Given the description of an element on the screen output the (x, y) to click on. 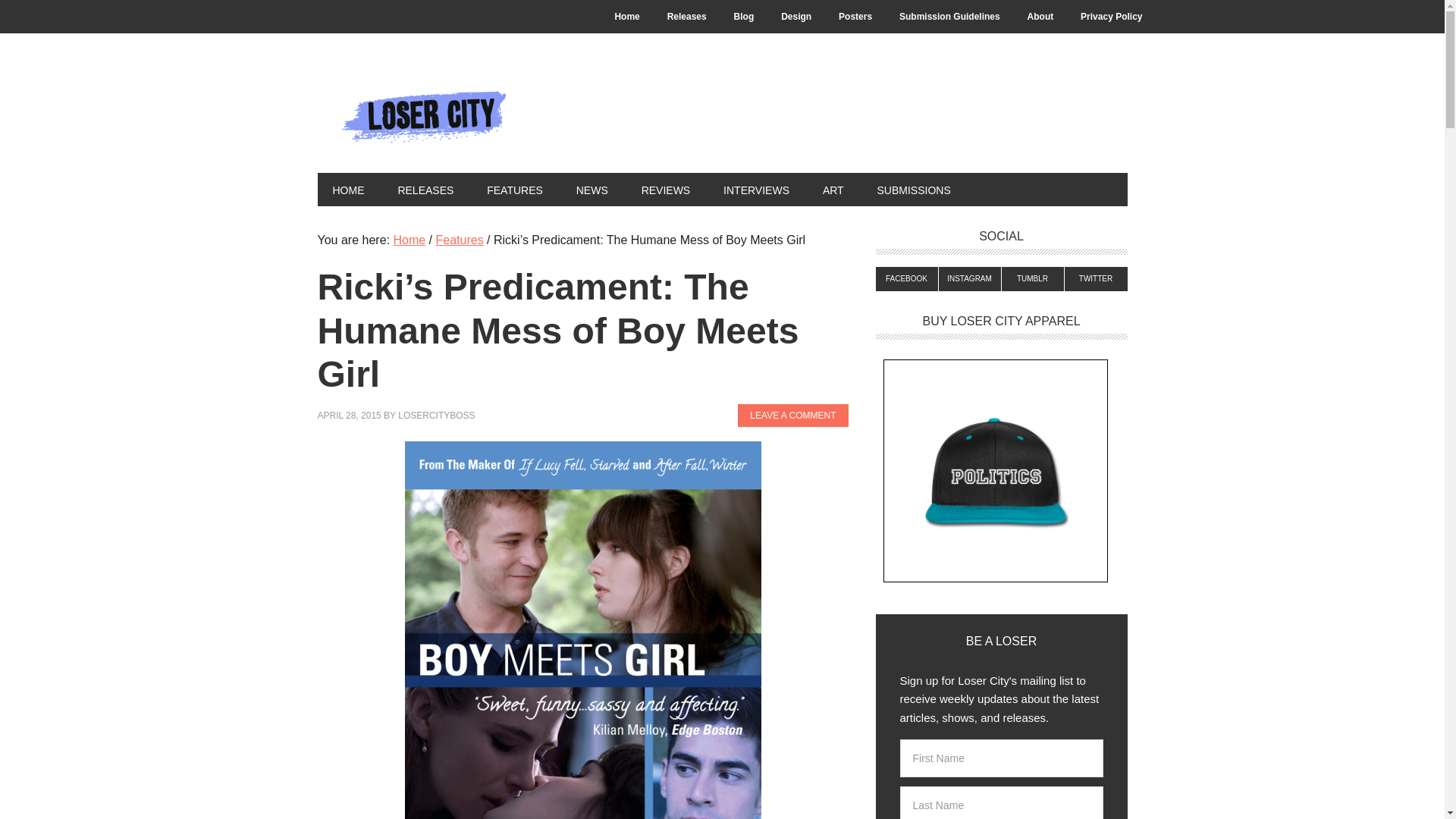
Blog (744, 16)
REVIEWS (666, 189)
INTERVIEWS (756, 189)
About (1039, 16)
SUBMISSIONS (913, 189)
Home (626, 16)
Posters (855, 16)
LOSER CITY (419, 115)
ART (833, 189)
RELEASES (424, 189)
